Given the description of an element on the screen output the (x, y) to click on. 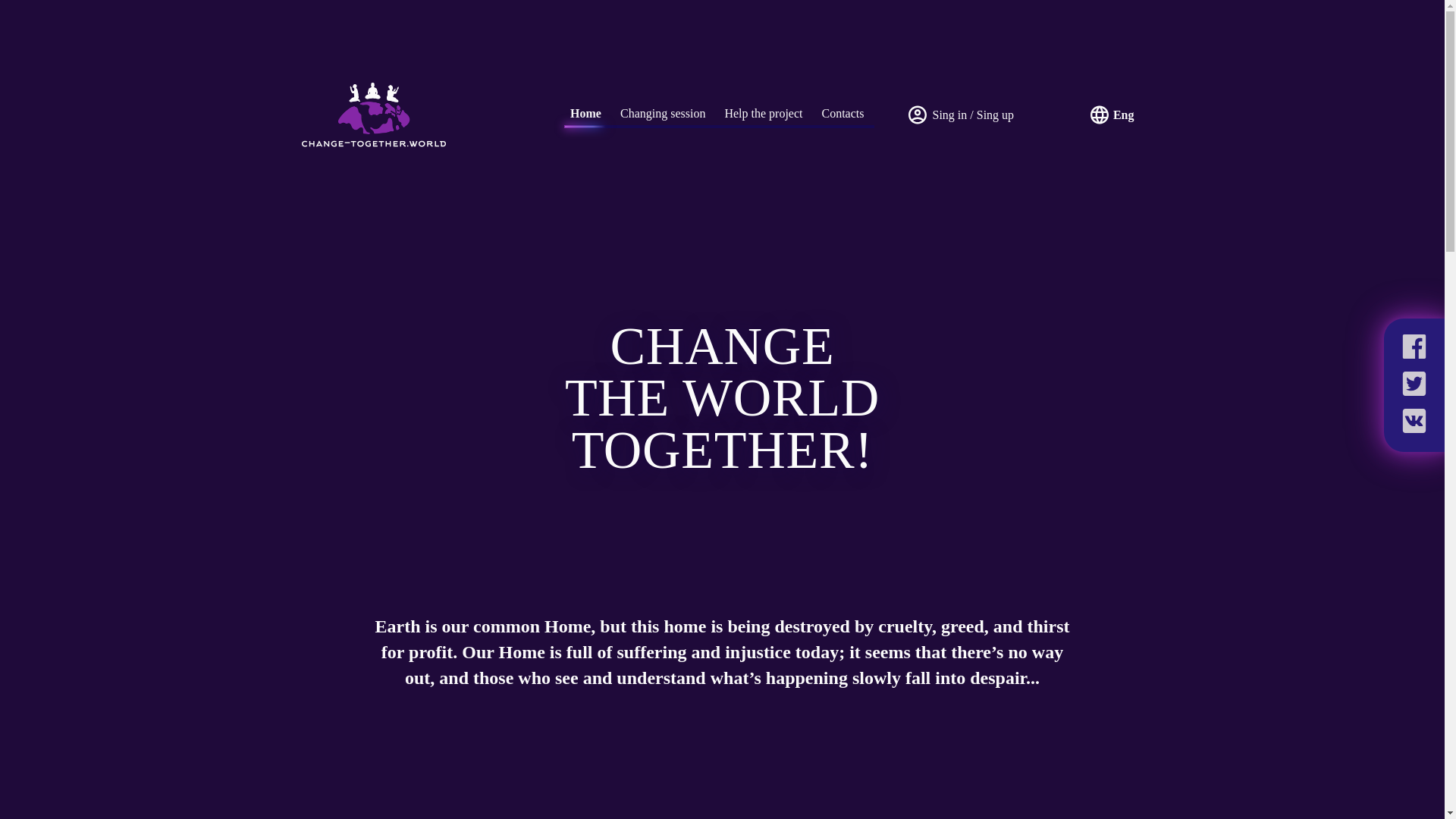
Help the project (762, 113)
Contacts (843, 113)
Home (585, 113)
Changing session (662, 113)
